Given the description of an element on the screen output the (x, y) to click on. 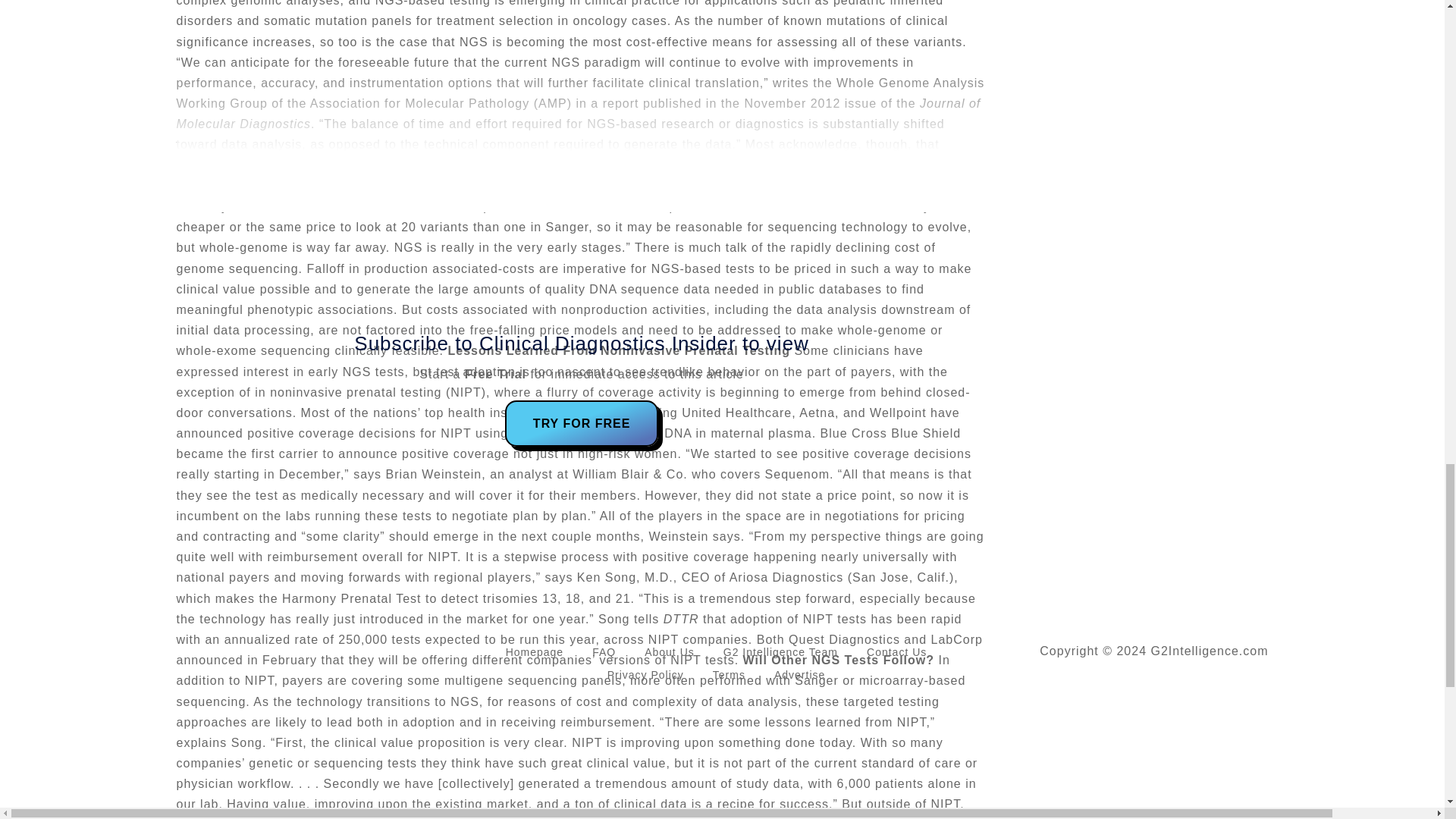
Follow on X (188, 652)
Follow on LinkedIn (218, 652)
